Given the description of an element on the screen output the (x, y) to click on. 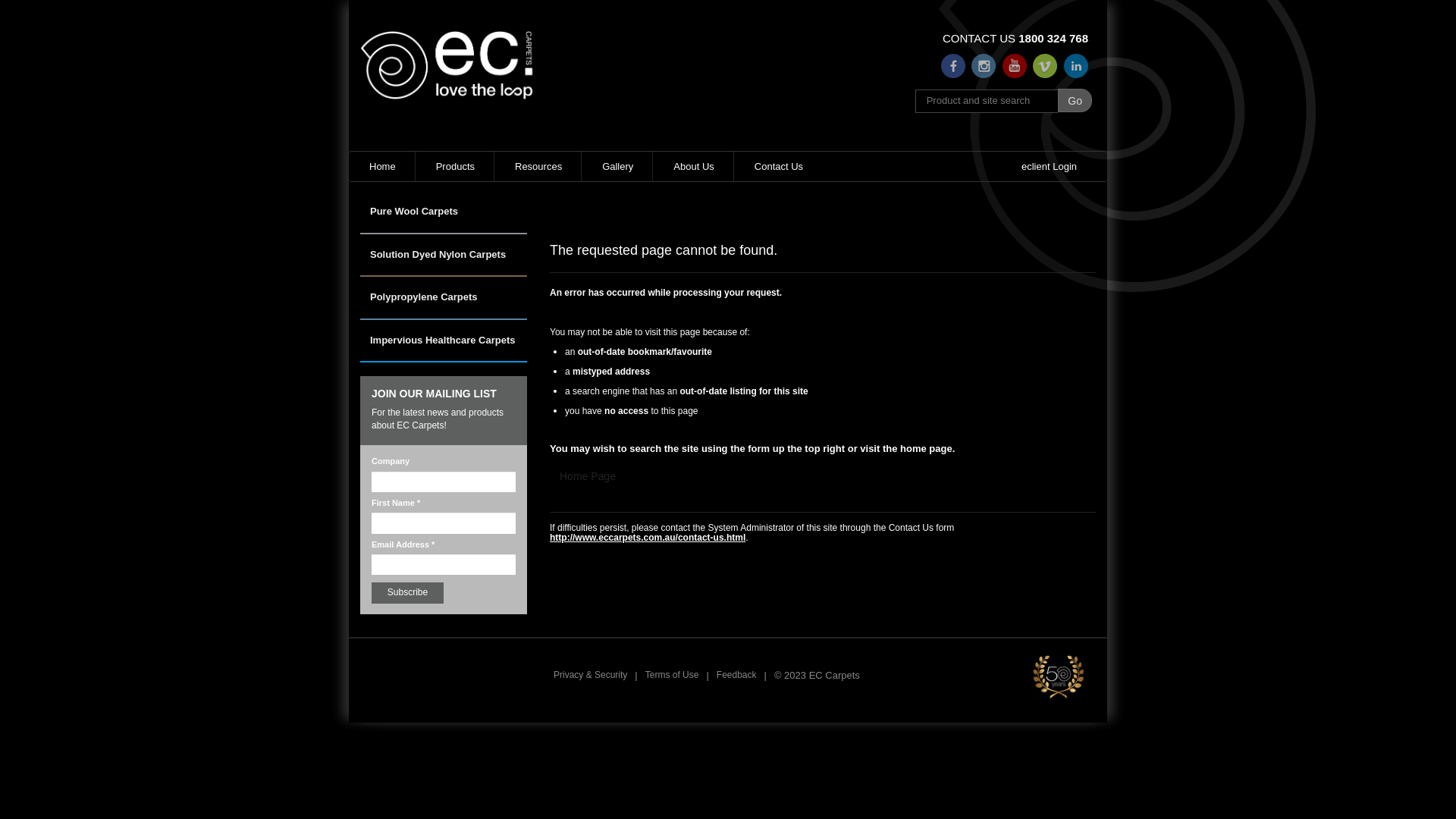
Gallery Element type: text (616, 166)
Feedback Element type: text (736, 674)
Impervious Healthcare Carpets Element type: text (443, 348)
Resources Element type: text (537, 166)
Home Element type: text (381, 166)
Subscribe Element type: text (407, 592)
Polypropylene Carpets Element type: text (443, 305)
About Us Element type: text (692, 166)
Privacy & Security Element type: text (590, 674)
Terms of Use Element type: text (672, 674)
Home Page Element type: text (587, 476)
http://www.eccarpets.com.au/contact-us.html Element type: text (647, 537)
1800 324 768 Element type: text (1053, 37)
Solution Dyed Nylon Carpets Element type: text (443, 262)
Pure Wool Carpets Element type: text (443, 219)
Go Element type: text (1074, 100)
Products Element type: text (454, 166)
eclient Login Element type: text (1048, 166)
Contact Us Element type: text (778, 166)
